Given the description of an element on the screen output the (x, y) to click on. 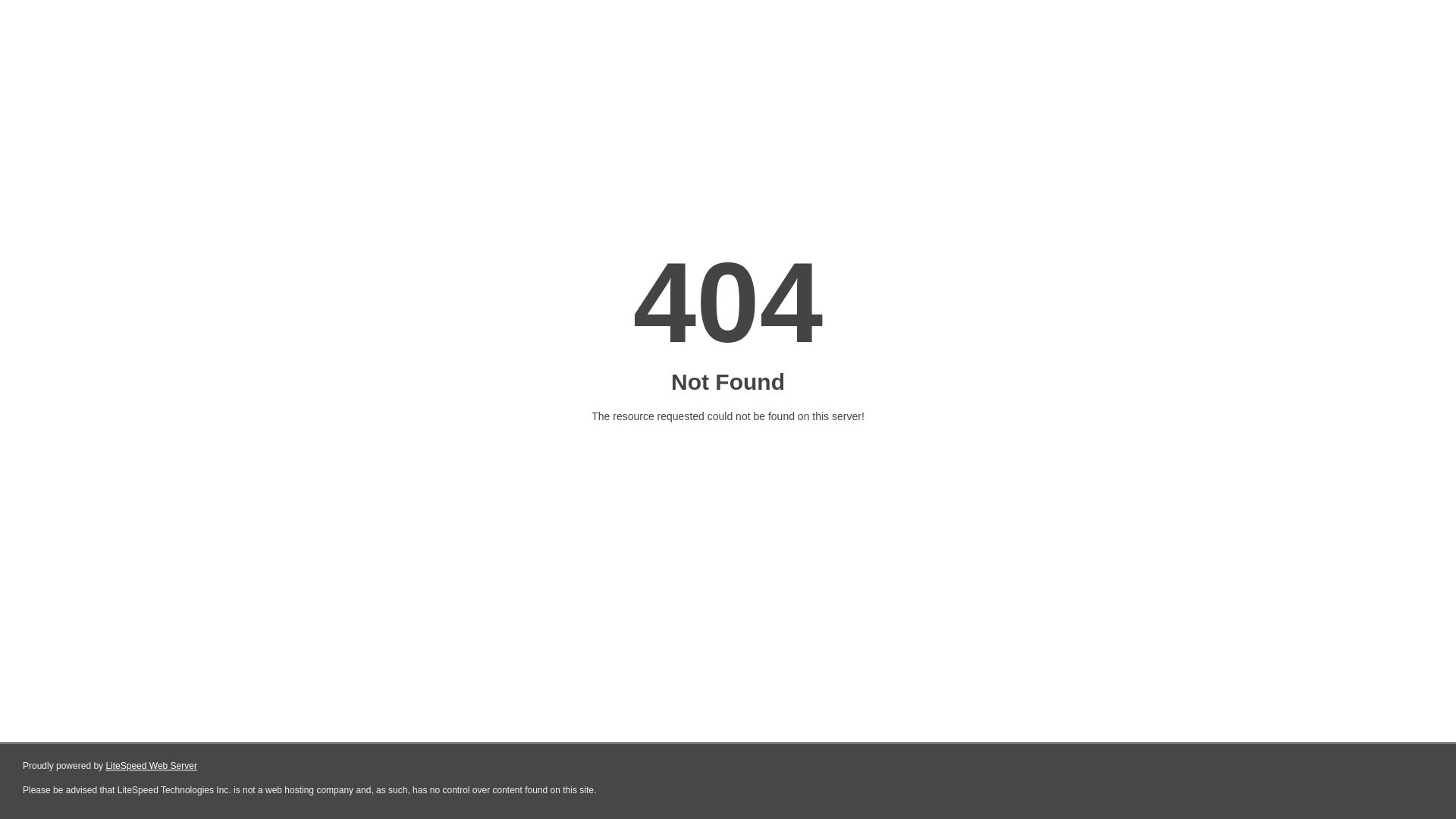
LiteSpeed Web Server Element type: text (151, 765)
